Given the description of an element on the screen output the (x, y) to click on. 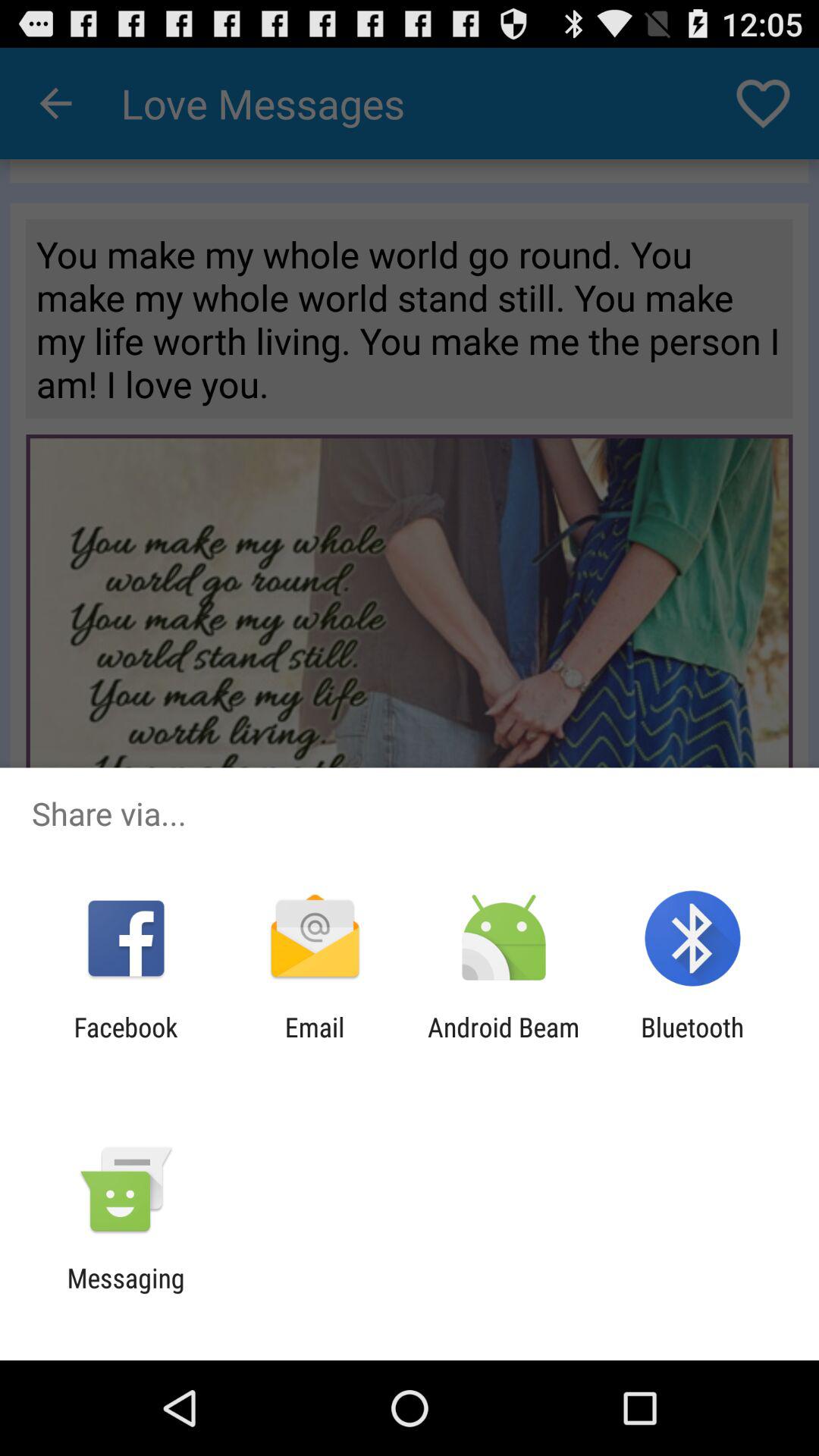
select android beam item (503, 1042)
